Given the description of an element on the screen output the (x, y) to click on. 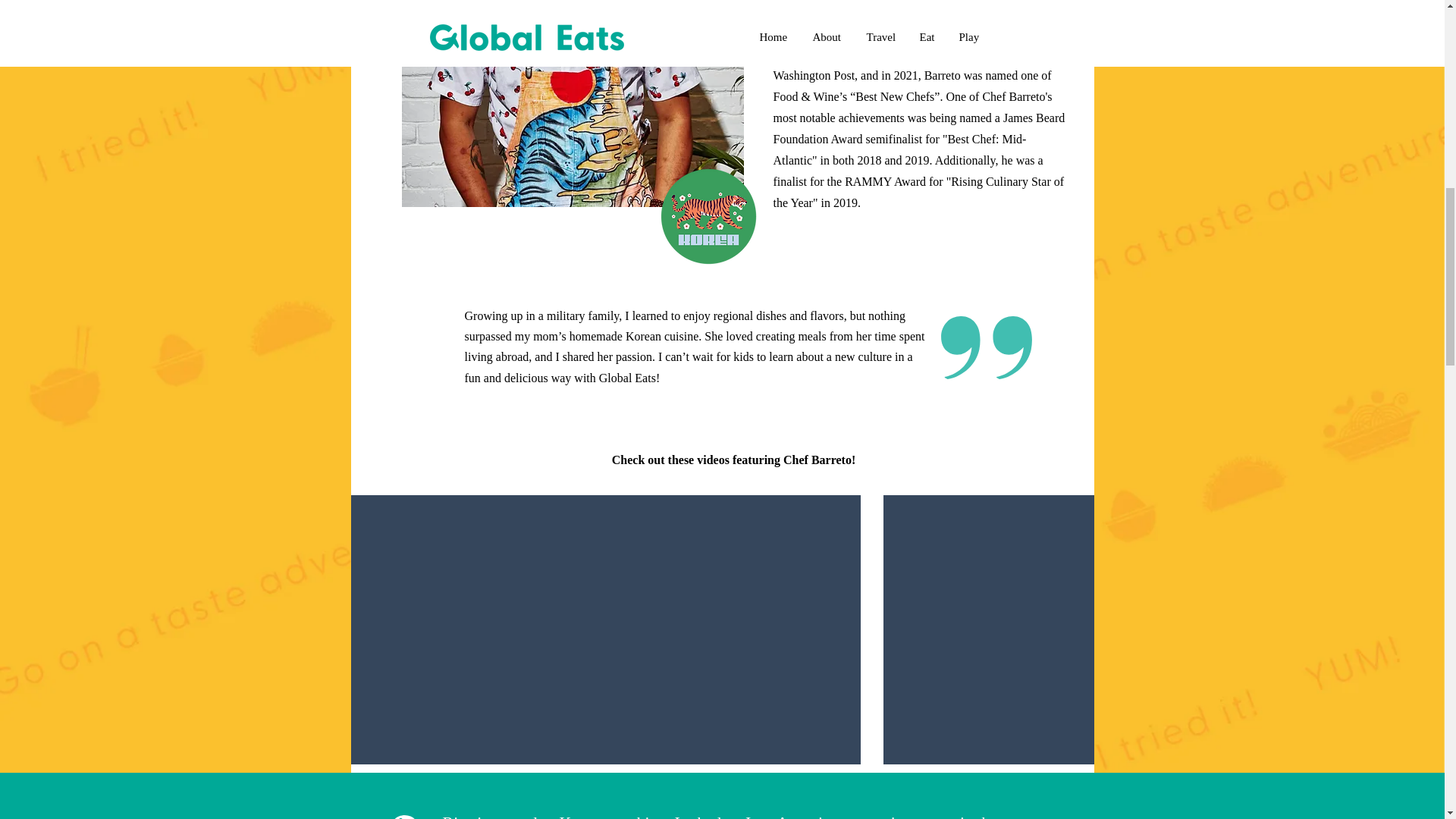
GE Korea: Chef Angel - Gochujang (1136, 781)
Chef Jet Tila.jpg (572, 103)
GE Korea: Chef Angel and Korean Food (605, 781)
Global Eats Stickers-china.png (708, 216)
GE Korea: Chef Angel - Gochujang (1137, 790)
GE Korea: Chef Angel and Korean Food (604, 790)
